Given the description of an element on the screen output the (x, y) to click on. 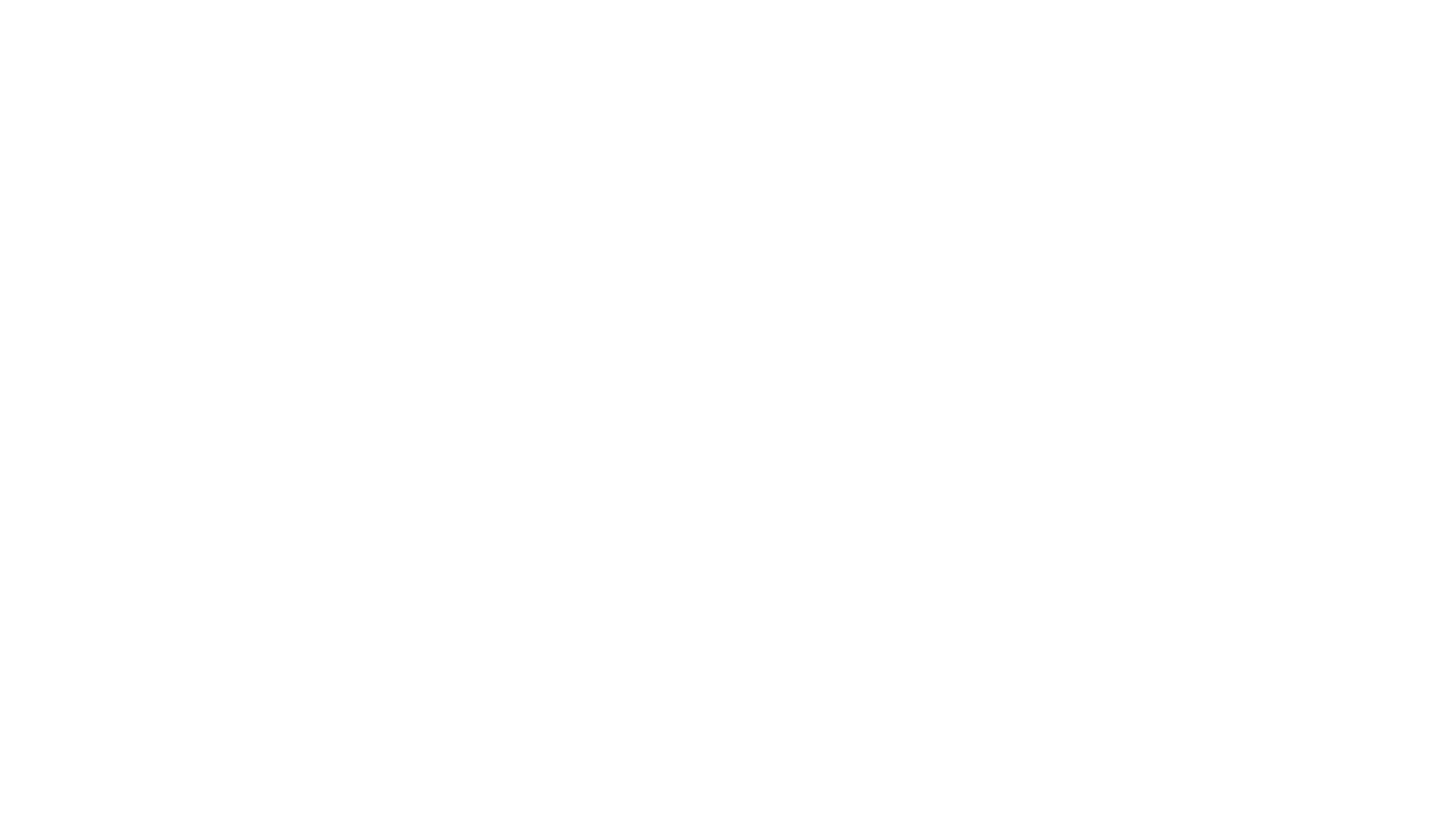
AUDIO Element type: text (587, 14)
LIVE Element type: text (781, 14)
BIO Element type: text (863, 14)
NEWS Element type: text (491, 14)
CONTACT Element type: text (1052, 14)
LIENS Element type: text (948, 14)
